Given the description of an element on the screen output the (x, y) to click on. 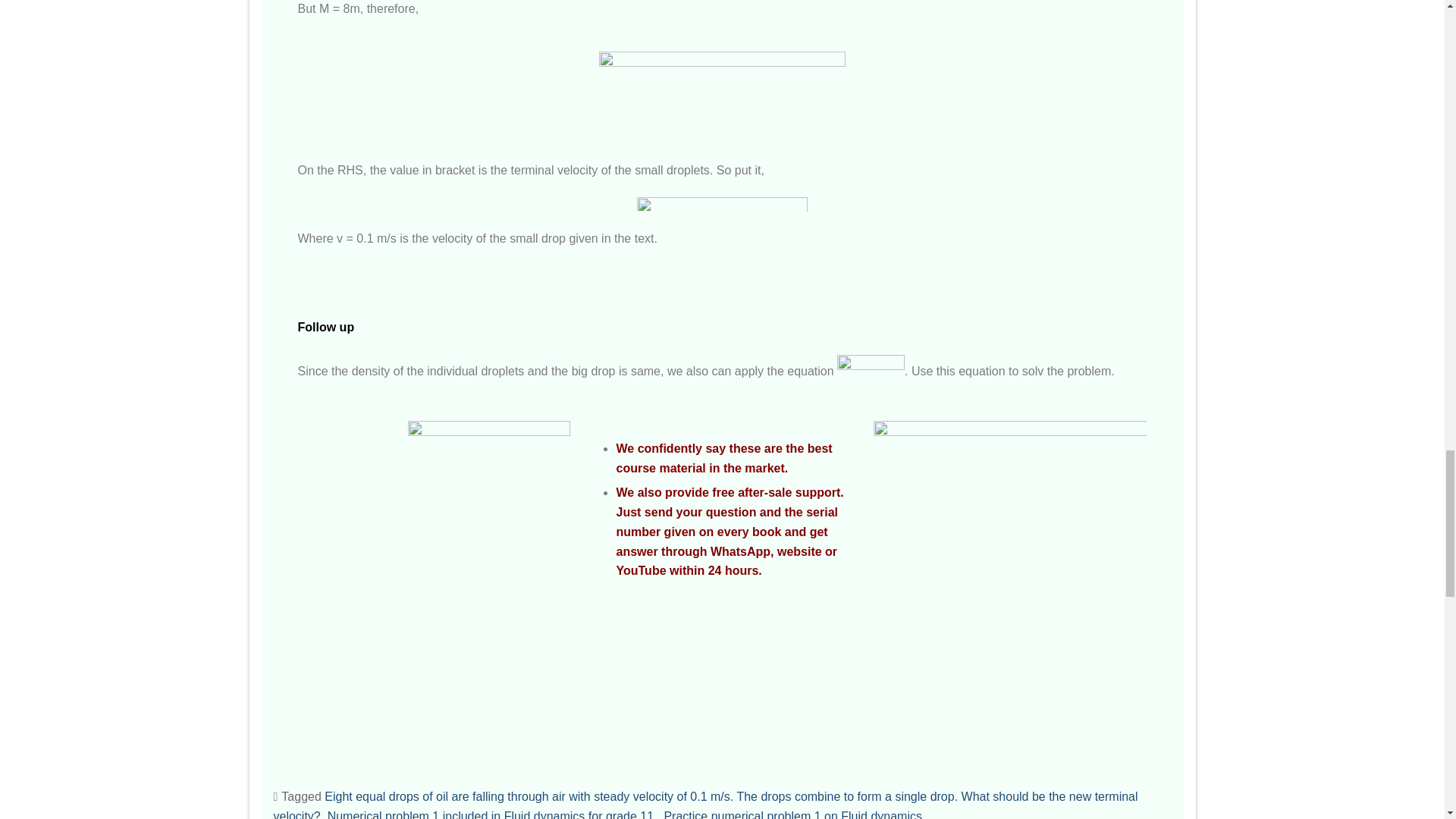
Advertisement (727, 122)
Numerical problem 1 included in Fluid dynamics for grade 11. (492, 814)
Practice numerical problem 1 on Fluid dynamics. (793, 814)
